Given the description of an element on the screen output the (x, y) to click on. 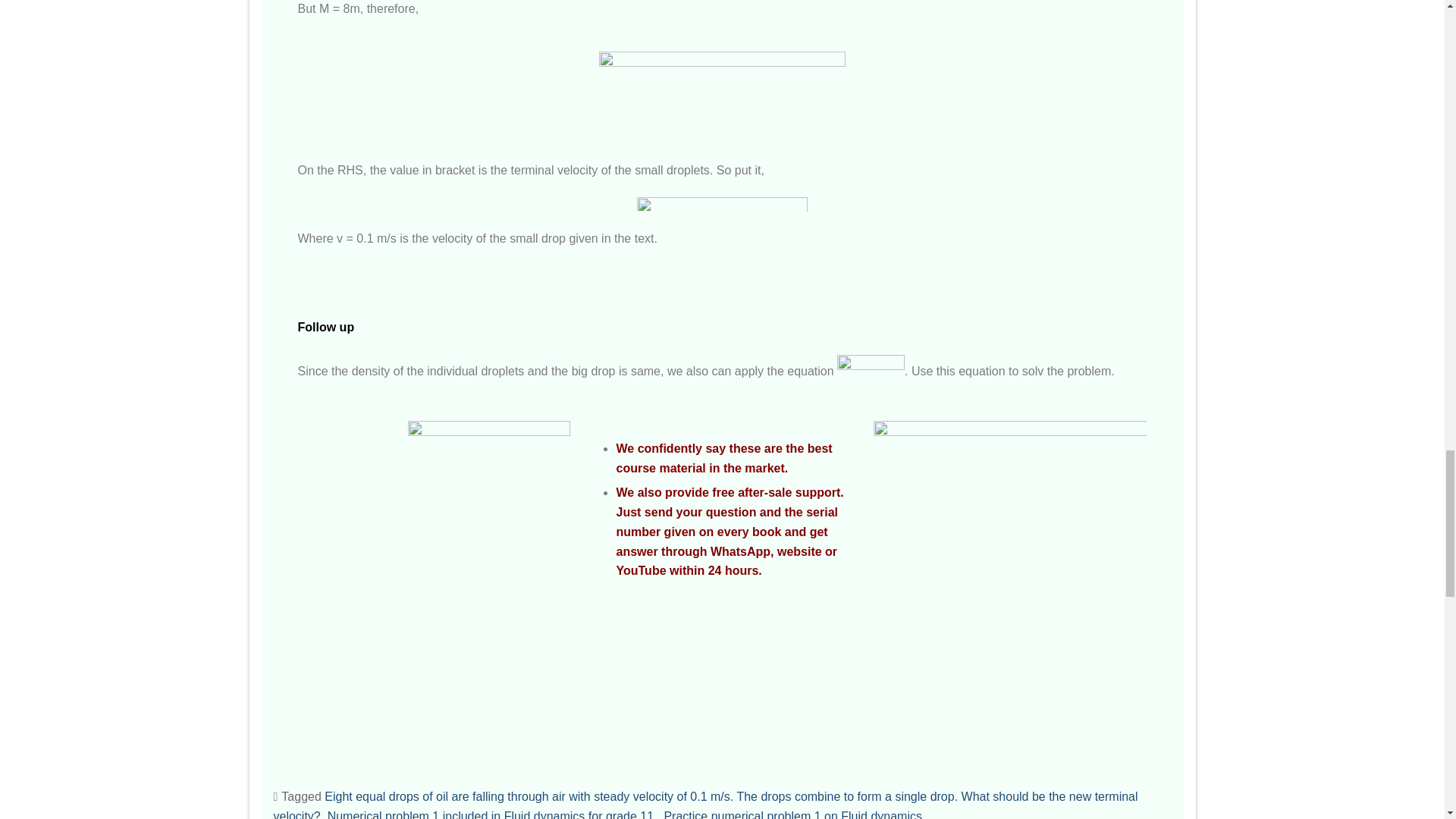
Advertisement (727, 122)
Numerical problem 1 included in Fluid dynamics for grade 11. (492, 814)
Practice numerical problem 1 on Fluid dynamics. (793, 814)
